Given the description of an element on the screen output the (x, y) to click on. 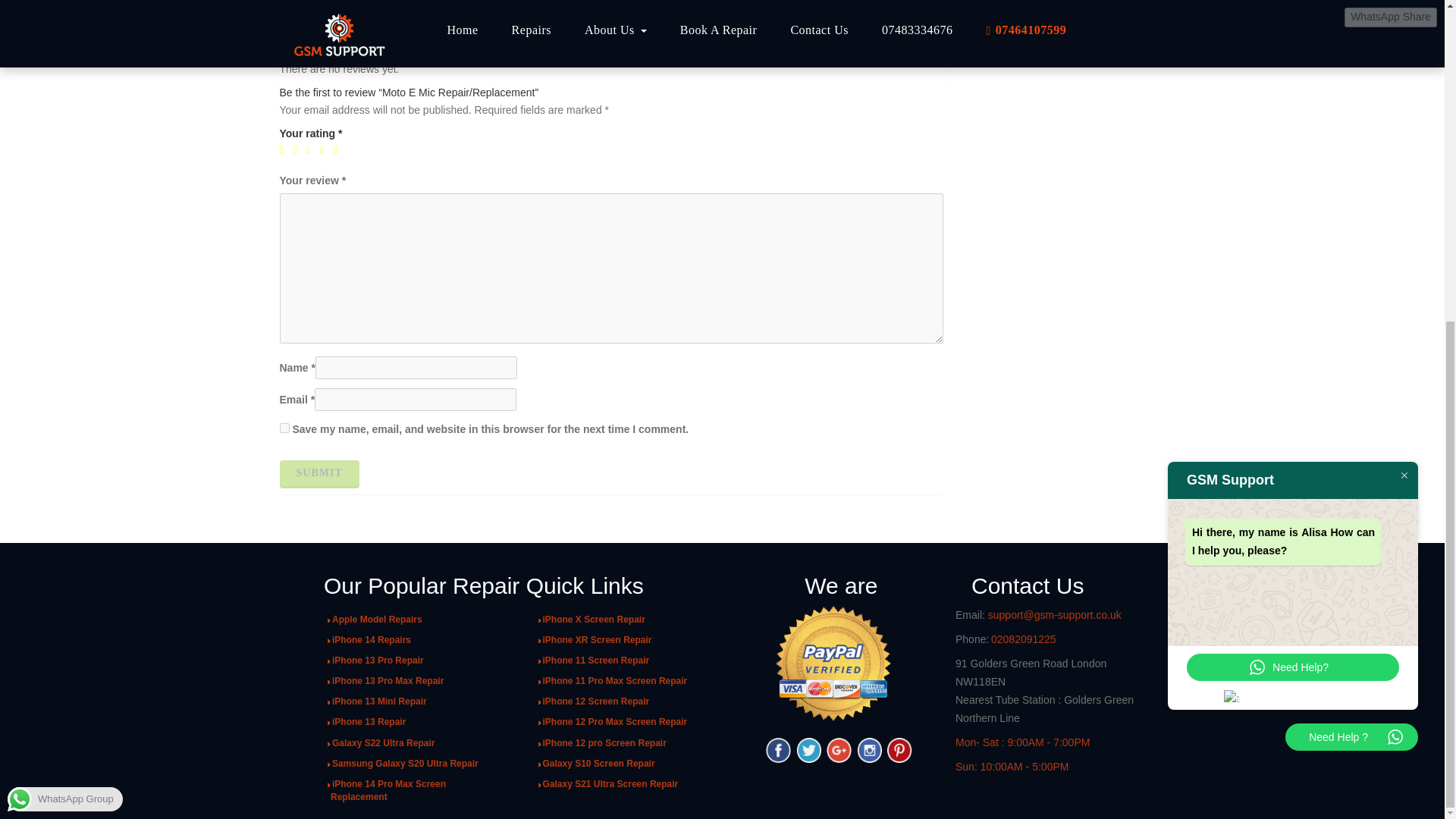
4 (325, 150)
Submit (318, 473)
3 (311, 150)
5 (338, 150)
yes (283, 428)
1 (284, 150)
2 (297, 150)
Submit (318, 473)
